Given the description of an element on the screen output the (x, y) to click on. 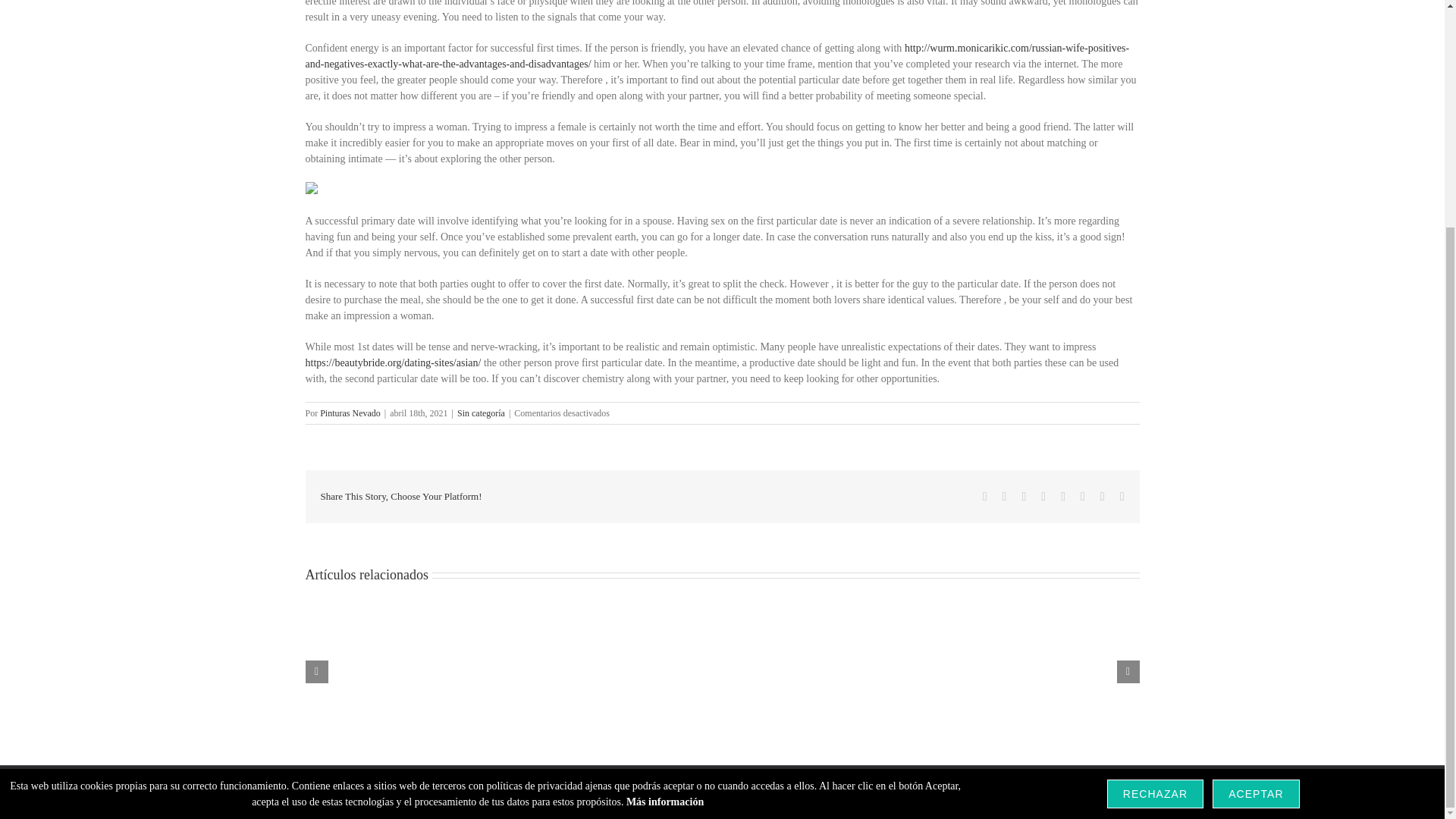
LinkedIn (1043, 496)
X (1005, 496)
Facebook (984, 496)
Vk (1102, 496)
Reddit (1024, 496)
Pinterest (1082, 496)
Tumblr (1063, 496)
Pinturas Nevado (350, 412)
Reddit (1024, 496)
X (1005, 496)
Aviso Legal (641, 799)
Facebook (984, 496)
Entradas de Pinturas Nevado (350, 412)
Vk (1102, 496)
Marketing Local (845, 786)
